Given the description of an element on the screen output the (x, y) to click on. 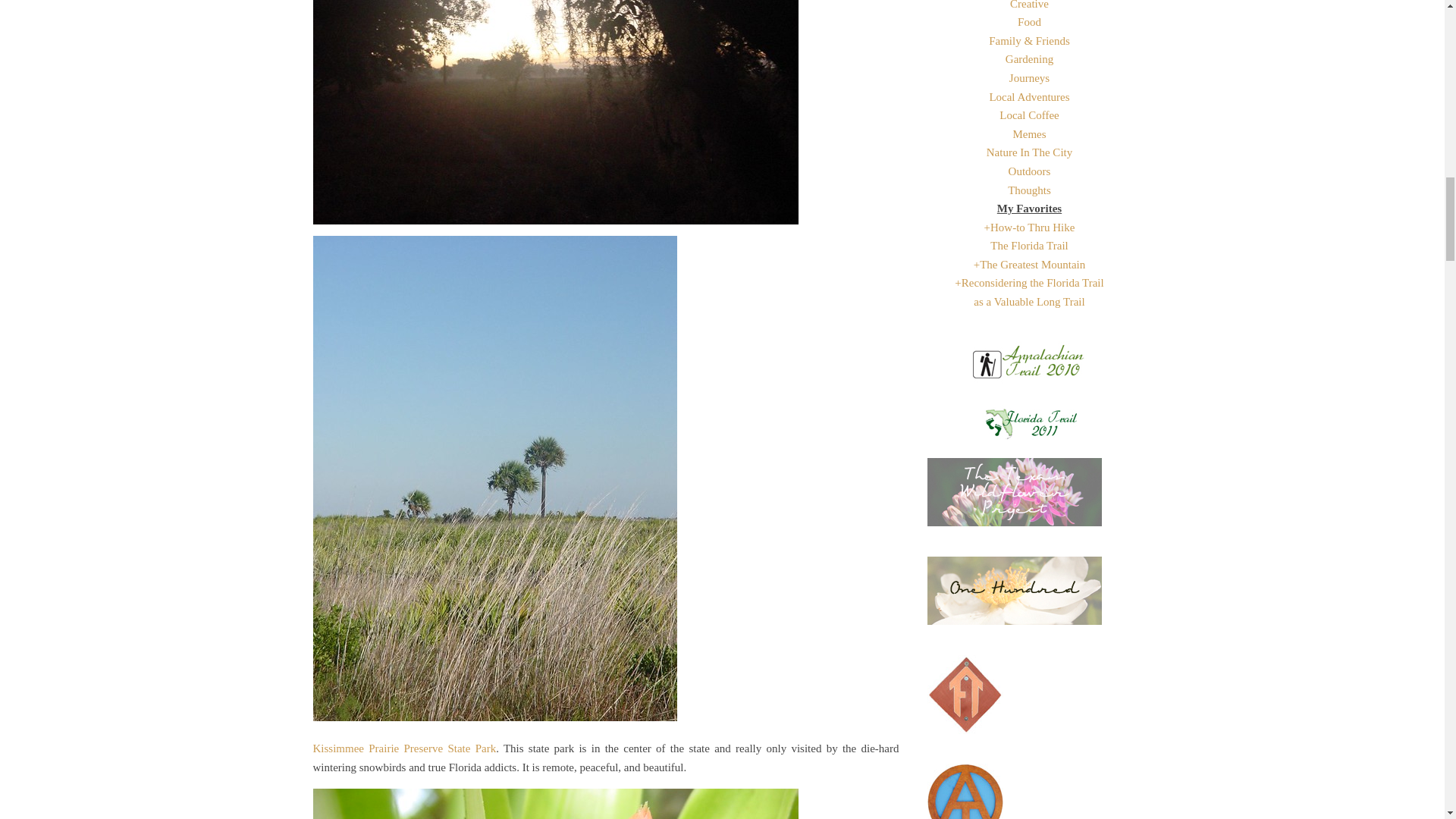
DSC07321 by Oceanic Wilderness, on Flickr (605, 112)
Kissimmee Prairie Preserve State Park (404, 748)
DSC05623 by Oceanic Wilderness, on Flickr (605, 803)
